Given the description of an element on the screen output the (x, y) to click on. 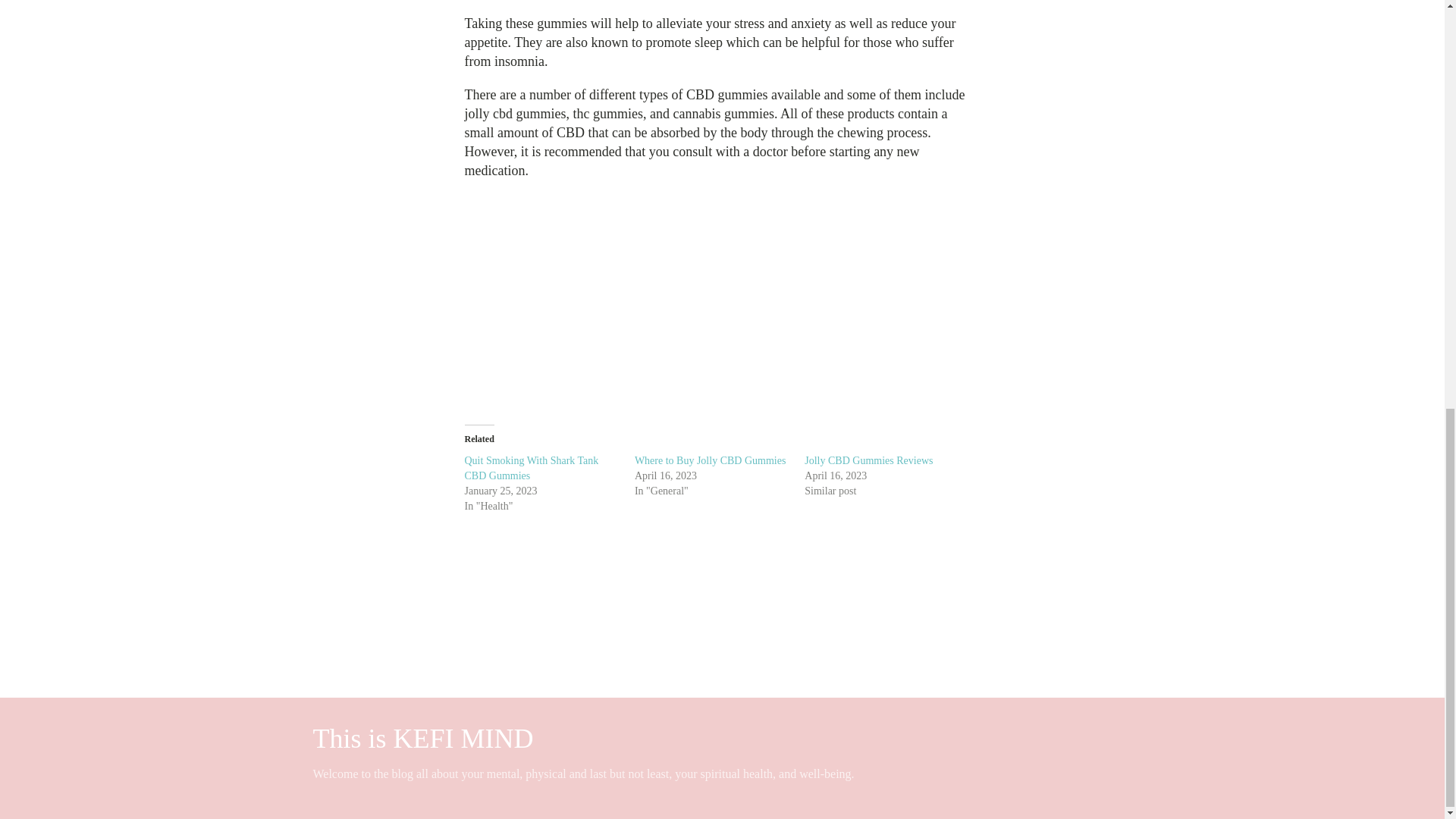
Quit Smoking With Shark Tank CBD Gummies (531, 468)
Jolly CBD Gummies Reviews (869, 460)
Jolly CBD Gummies Reviews (869, 460)
Quit Smoking With Shark Tank CBD Gummies (531, 468)
Where to Buy Jolly CBD Gummies (710, 460)
Where to Buy Jolly CBD Gummies (710, 460)
